Given the description of an element on the screen output the (x, y) to click on. 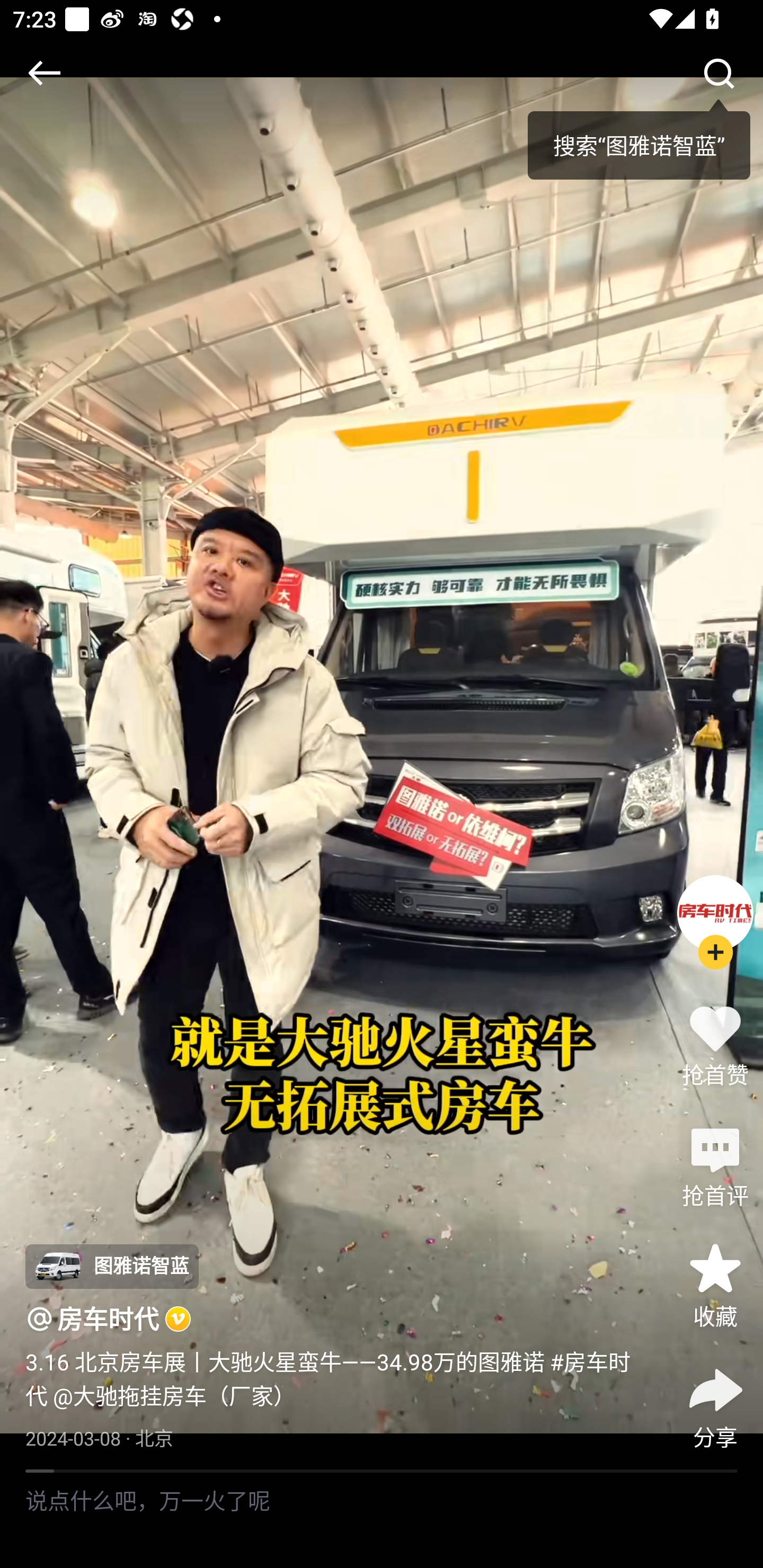
 (44, 72)
 (718, 72)
搜索“图雅诺智蓝” (638, 139)
抢首评 (715, 1164)
收藏 (715, 1284)
图雅诺智蓝 (111, 1266)
房车时代 (107, 1318)
3.16 北京房车展丨大驰火星蛮牛——34.98万的图雅诺 #房车时代 @大驰拖挂房车（厂家） (336, 1377)
分享 (715, 1405)
说点什么吧，万一火了呢 (381, 1520)
